Given the description of an element on the screen output the (x, y) to click on. 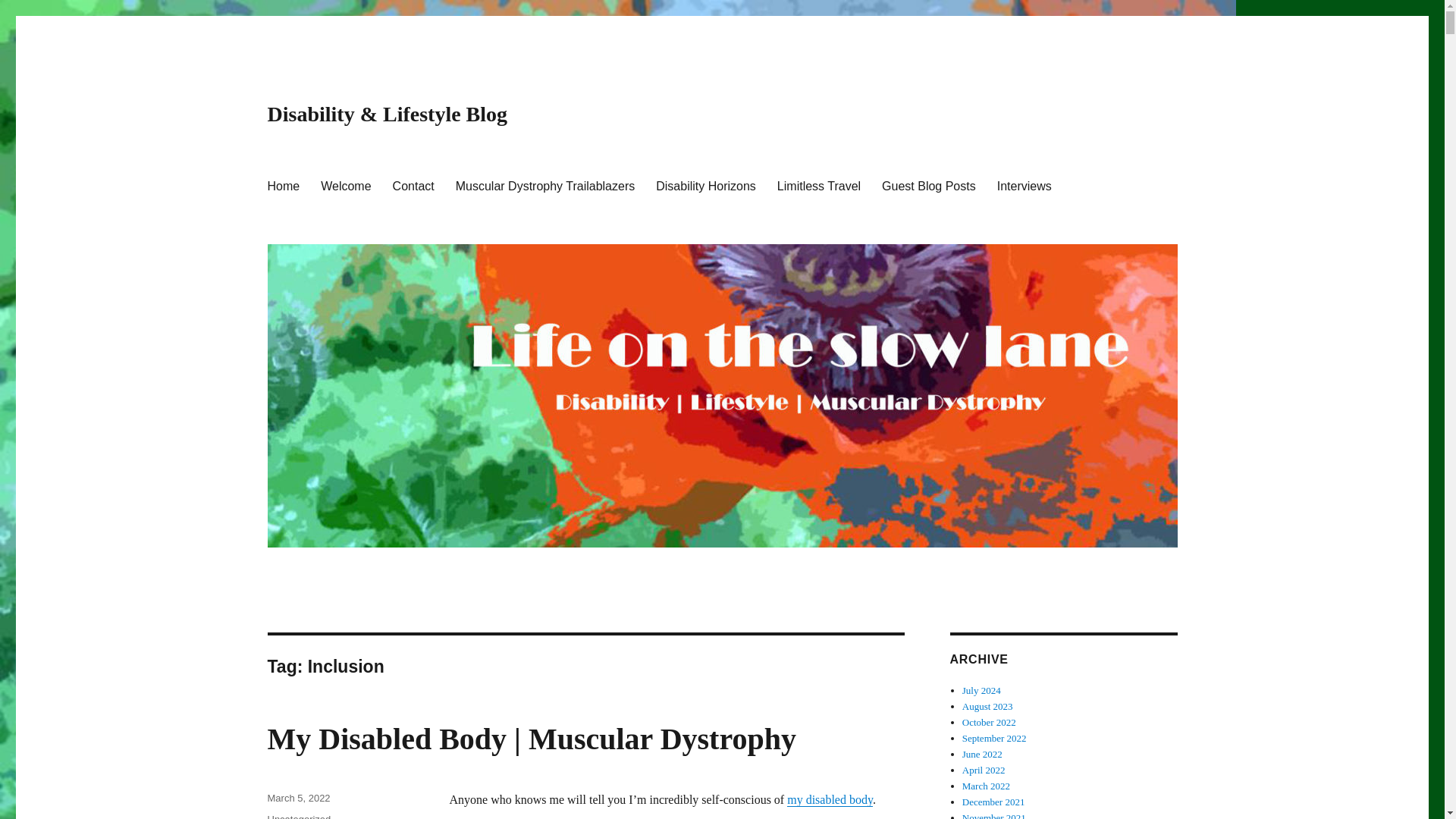
Contact (413, 185)
Guest Blog Posts (928, 185)
Uncategorized (298, 816)
Limitless Travel (818, 185)
Disability Horizons (706, 185)
Muscular Dystrophy Trailablazers (545, 185)
my disabled body (829, 799)
Interviews (1024, 185)
March 5, 2022 (298, 797)
Welcome (345, 185)
